Given the description of an element on the screen output the (x, y) to click on. 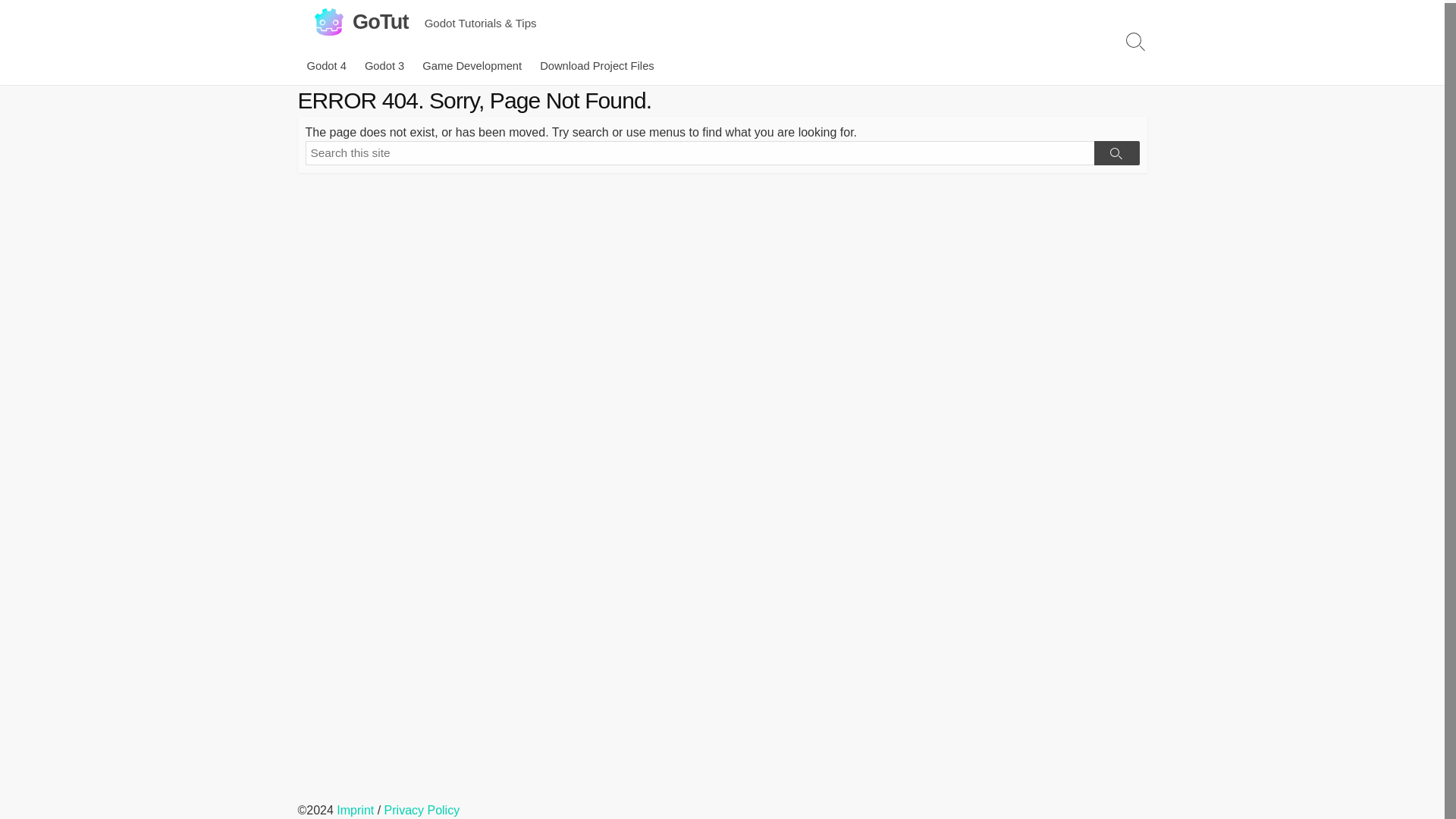
Godot 4 (326, 65)
Download Project Files (597, 65)
GoTut (328, 21)
Imprint (355, 809)
GoTut (380, 21)
Privacy Policy (422, 809)
Game Development (472, 65)
GoTut (380, 21)
Search (1115, 152)
Godot 3 (384, 65)
